Given the description of an element on the screen output the (x, y) to click on. 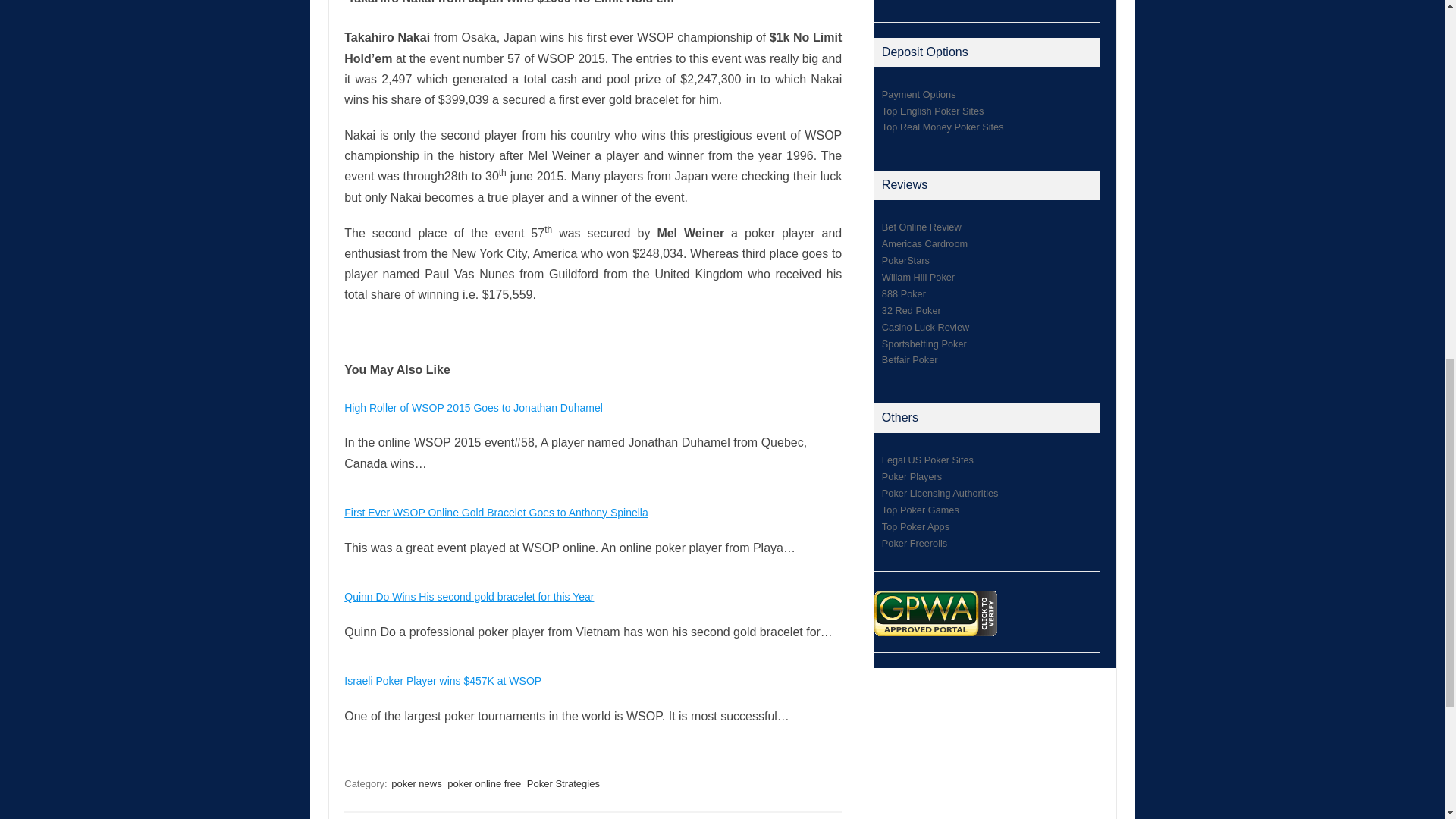
poker news (416, 783)
Quinn Do Wins His second gold bracelet for this Year (468, 596)
High Roller of WSOP 2015 Goes to Jonathan Duhamel (472, 408)
Poker Strategies (563, 783)
poker online free (483, 783)
